Given the description of an element on the screen output the (x, y) to click on. 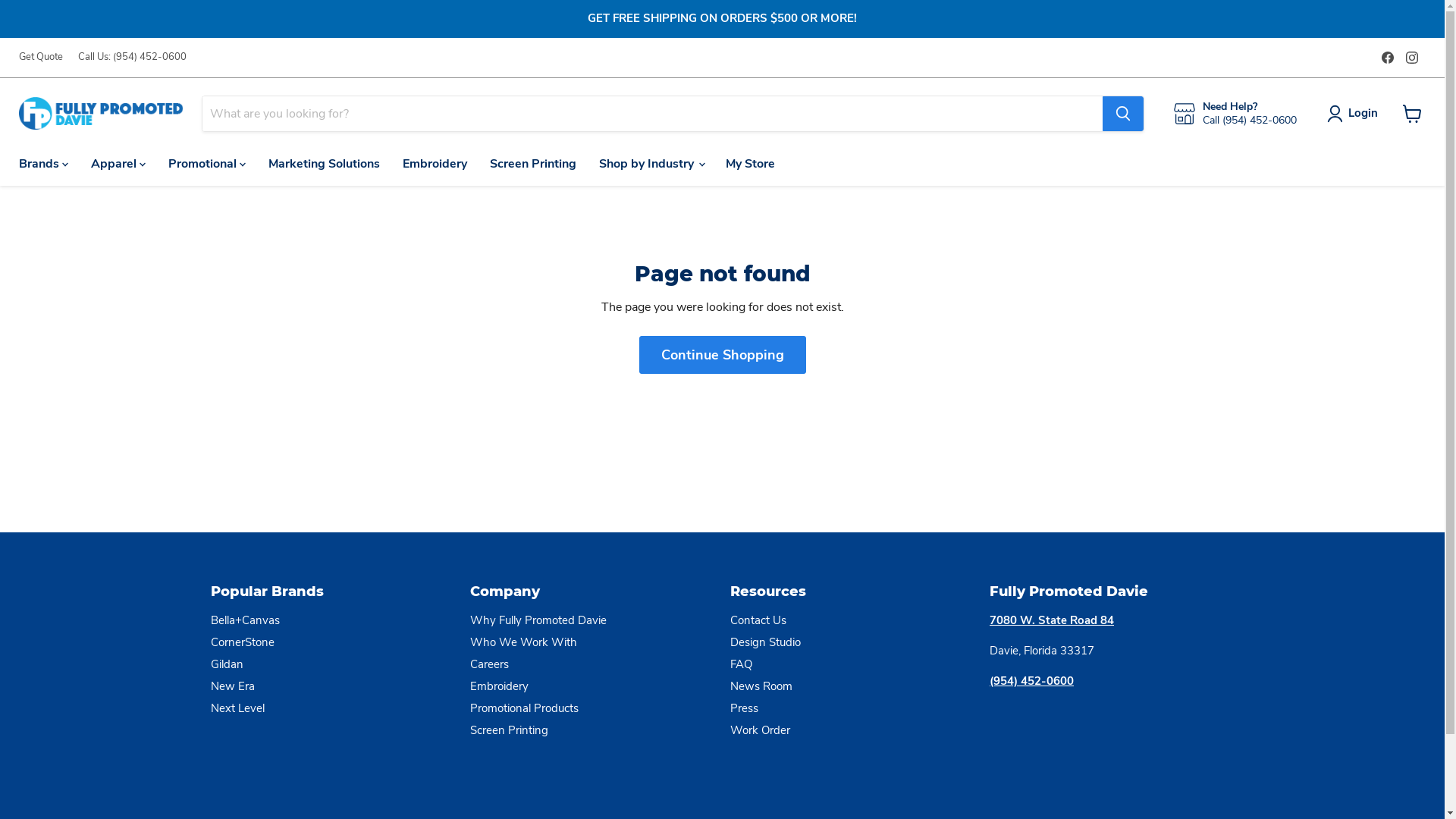
FAQ Element type: text (740, 663)
New Era Element type: text (232, 685)
Why Fully Promoted Davie Element type: text (538, 619)
Get Quote Element type: text (40, 56)
Find us on Instagram Element type: text (1411, 57)
Who We Work With Element type: text (523, 641)
Promotional Products Element type: text (524, 707)
CornerStone Element type: text (242, 641)
(954) 452-0600 Element type: text (1031, 680)
Work Order Element type: text (759, 729)
Careers Element type: text (489, 663)
7080 W. State Road 84 Element type: text (1051, 619)
Continue Shopping Element type: text (721, 354)
Gildan Element type: text (226, 663)
Need Help?
Call (954) 452-0600 Element type: text (1234, 113)
Next Level Element type: text (237, 707)
Screen Printing Element type: text (509, 729)
Press Element type: text (743, 707)
Find us on Facebook Element type: text (1387, 57)
Call Us: (954) 452-0600 Element type: text (132, 56)
Embroidery Element type: text (499, 685)
My Store Element type: text (750, 163)
News Room Element type: text (760, 685)
Bella+Canvas Element type: text (244, 619)
Design Studio Element type: text (764, 641)
View cart Element type: text (1412, 113)
Contact Us Element type: text (757, 619)
Embroidery Element type: text (434, 163)
Screen Printing Element type: text (532, 163)
Marketing Solutions Element type: text (324, 163)
Login Element type: text (1355, 113)
